Given the description of an element on the screen output the (x, y) to click on. 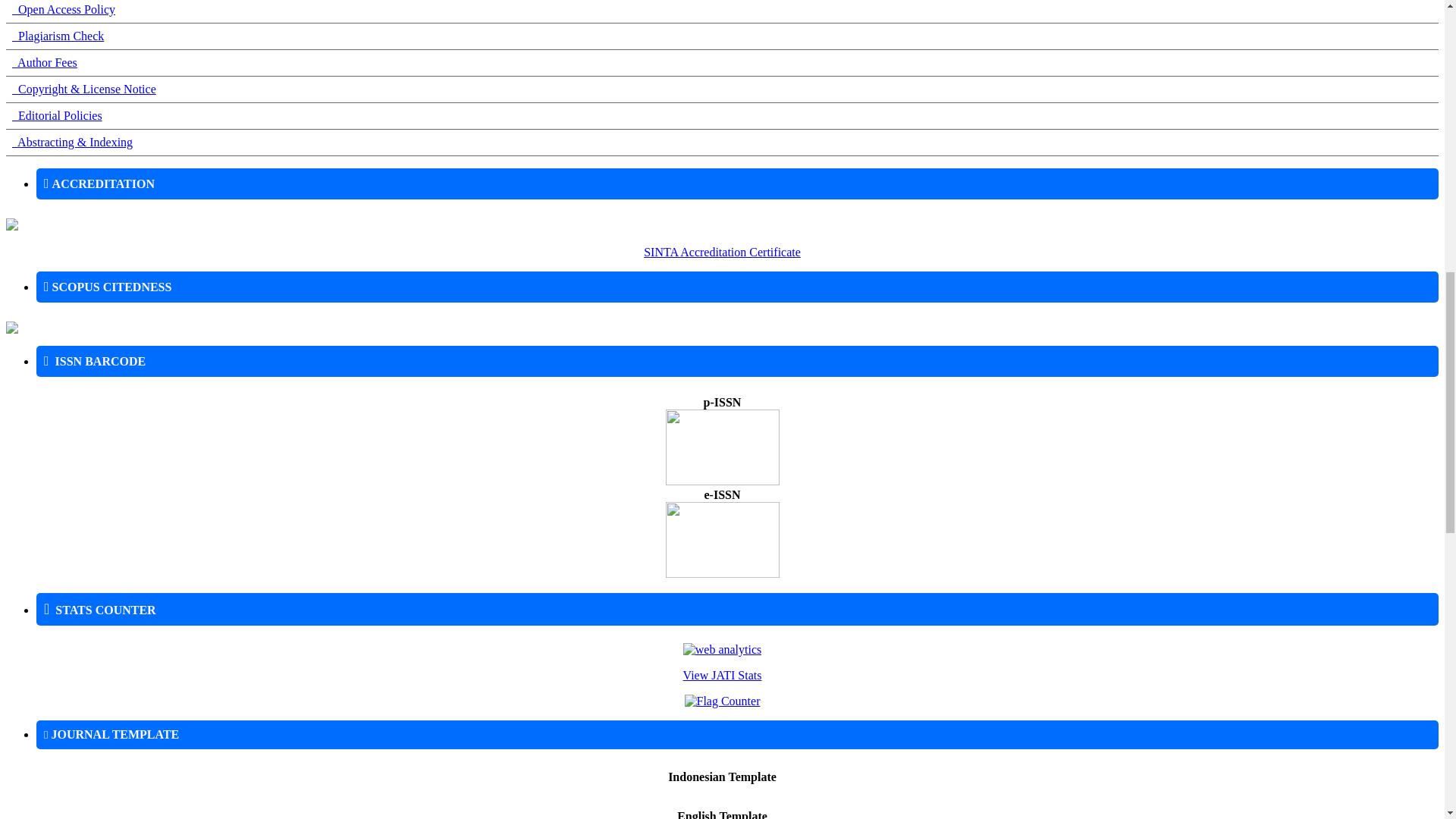
  Editorial Policies (56, 115)
  Author Fees (44, 62)
web analytics (721, 649)
  Open Access Policy (63, 9)
  Plagiarism Check (57, 35)
